Given the description of an element on the screen output the (x, y) to click on. 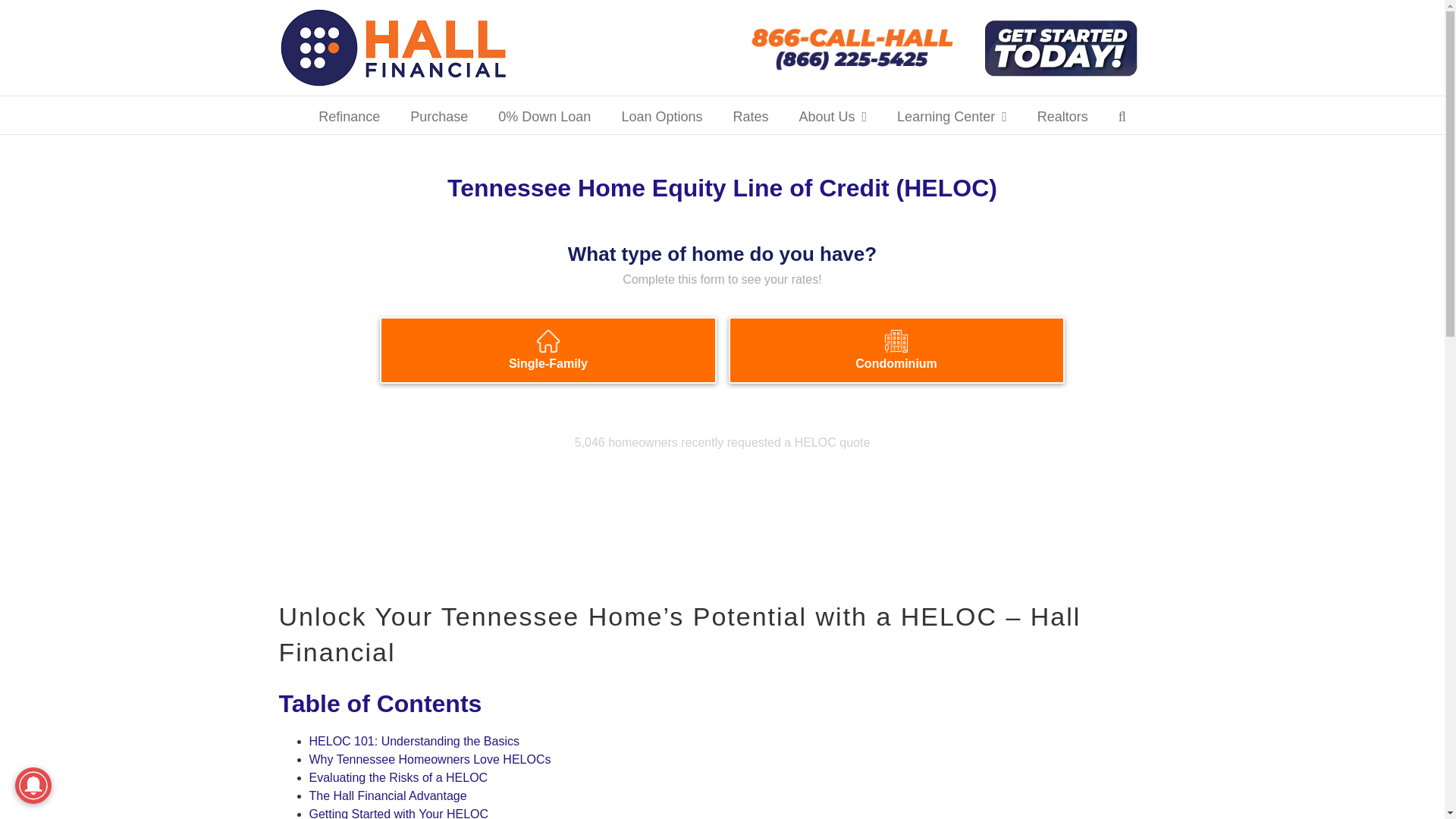
Learning Center (951, 115)
Realtors (1061, 115)
Rates (750, 115)
Search (1121, 115)
Refinance (349, 115)
Loan Options (661, 115)
About Us (831, 115)
Purchase (438, 115)
